Given the description of an element on the screen output the (x, y) to click on. 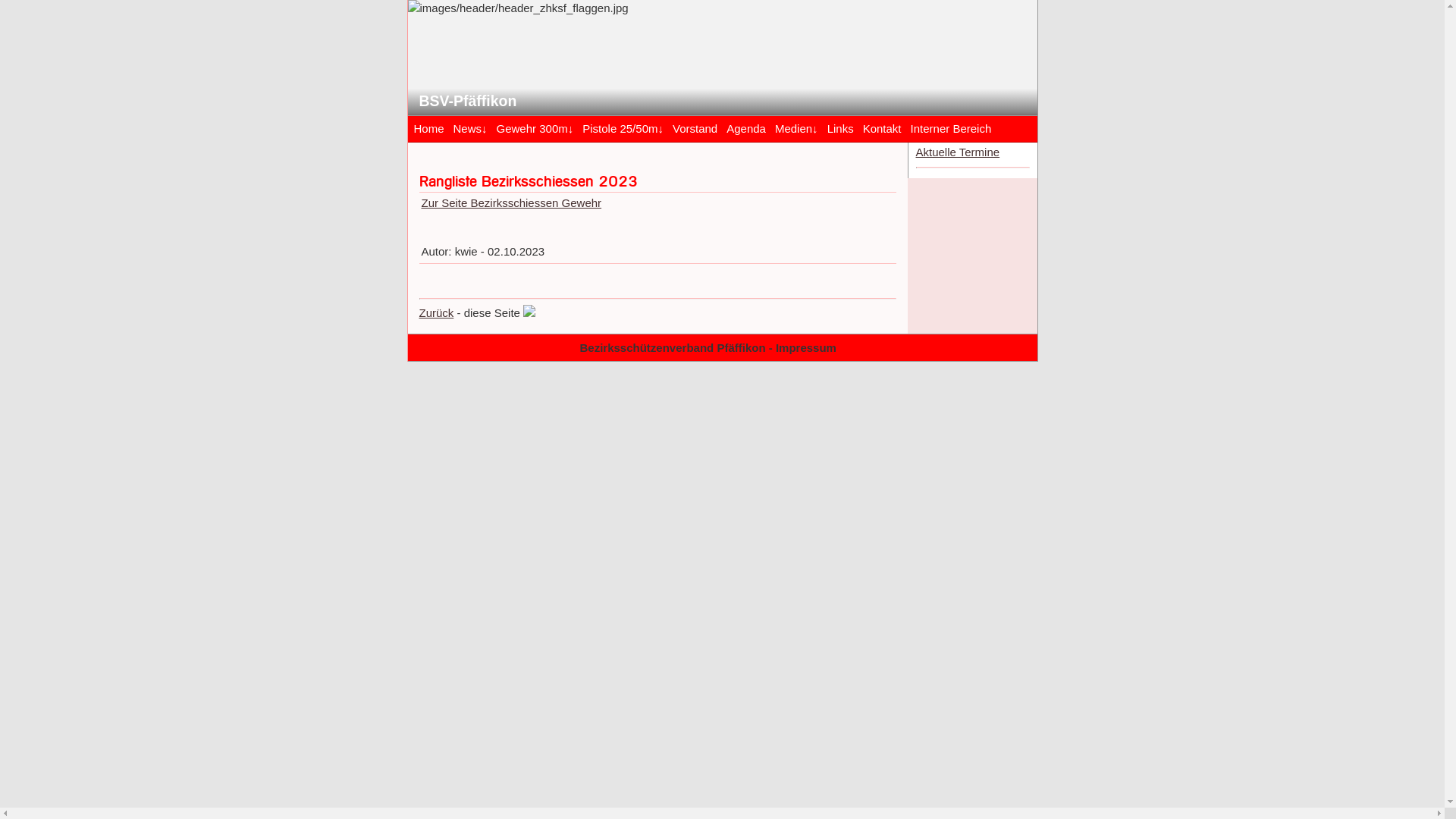
    Element type: text (860, 347)
Vorstand Element type: text (694, 127)
Zur Seite Bezirksschiessen Gewehr Element type: text (511, 202)
Agenda Element type: text (745, 127)
Interner Bereich Element type: text (951, 127)
Aktuelle Termine Element type: text (958, 151)
Links Element type: text (840, 127)
Kontakt Element type: text (882, 127)
Impressum Element type: text (805, 347)
Home Element type: text (428, 127)
